Given the description of an element on the screen output the (x, y) to click on. 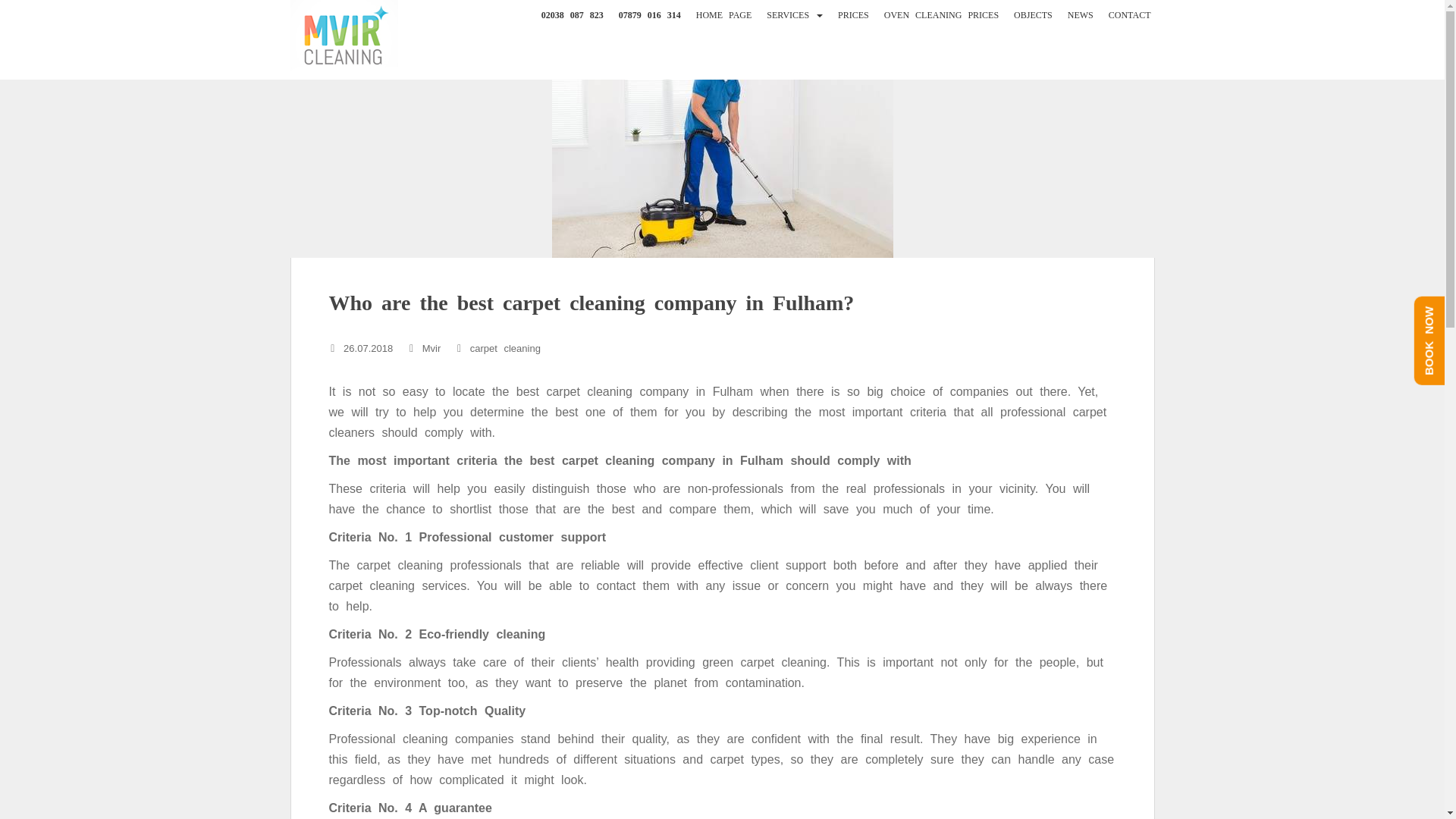
OBJECTS (1032, 15)
26.07.2018 (368, 348)
HOME PAGE (723, 15)
Mvir (431, 348)
carpet cleaning (505, 348)
02038 087 823 (572, 15)
CONTACT (1129, 15)
OVEN CLEANING PRICES (940, 15)
Call us at 07879 016 314  (649, 15)
07879 016 314 (649, 15)
